Given the description of an element on the screen output the (x, y) to click on. 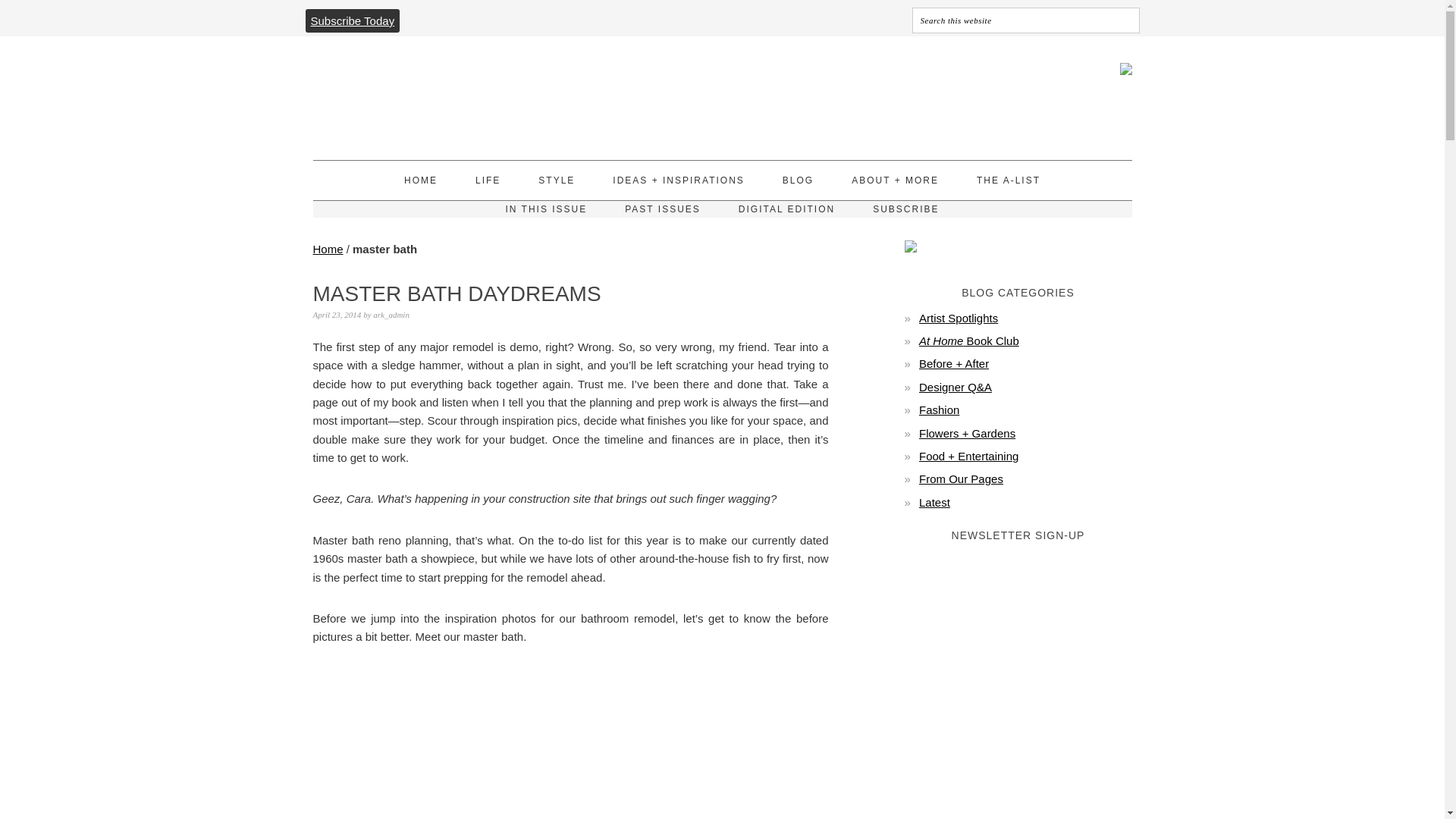
STYLE (556, 179)
AT HOME IN ARKANSAS (441, 91)
Subscribe Today (351, 20)
LIFE (488, 179)
HOME (421, 179)
